Given the description of an element on the screen output the (x, y) to click on. 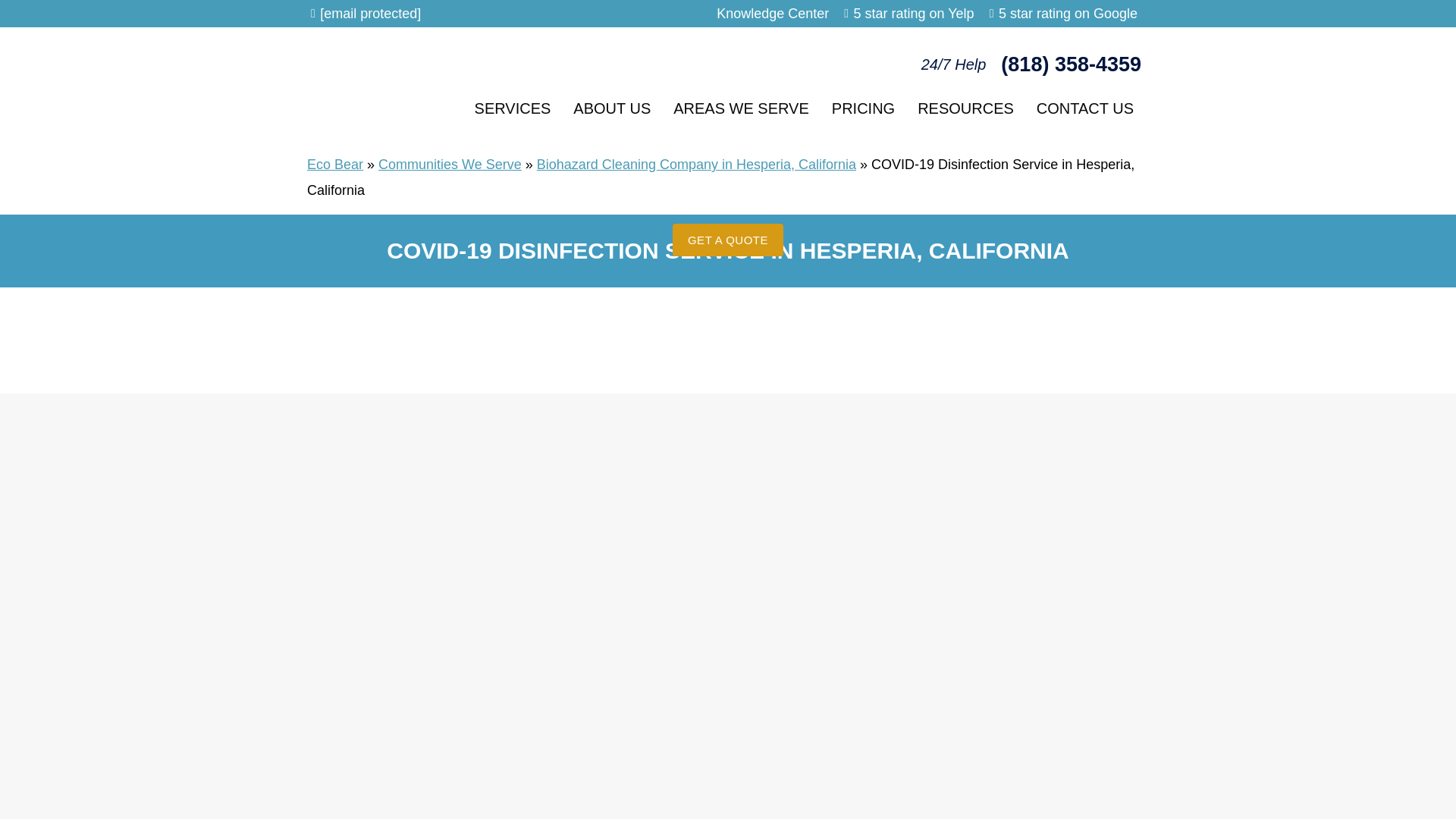
5 star rating on Google (1067, 13)
RESOURCES (965, 108)
ABOUT US (612, 108)
5 star rating on Yelp (913, 13)
Knowledge Center (772, 13)
SERVICES (512, 108)
AREAS WE SERVE (741, 108)
CONTACT US (1084, 108)
PRICING (863, 108)
